Given the description of an element on the screen output the (x, y) to click on. 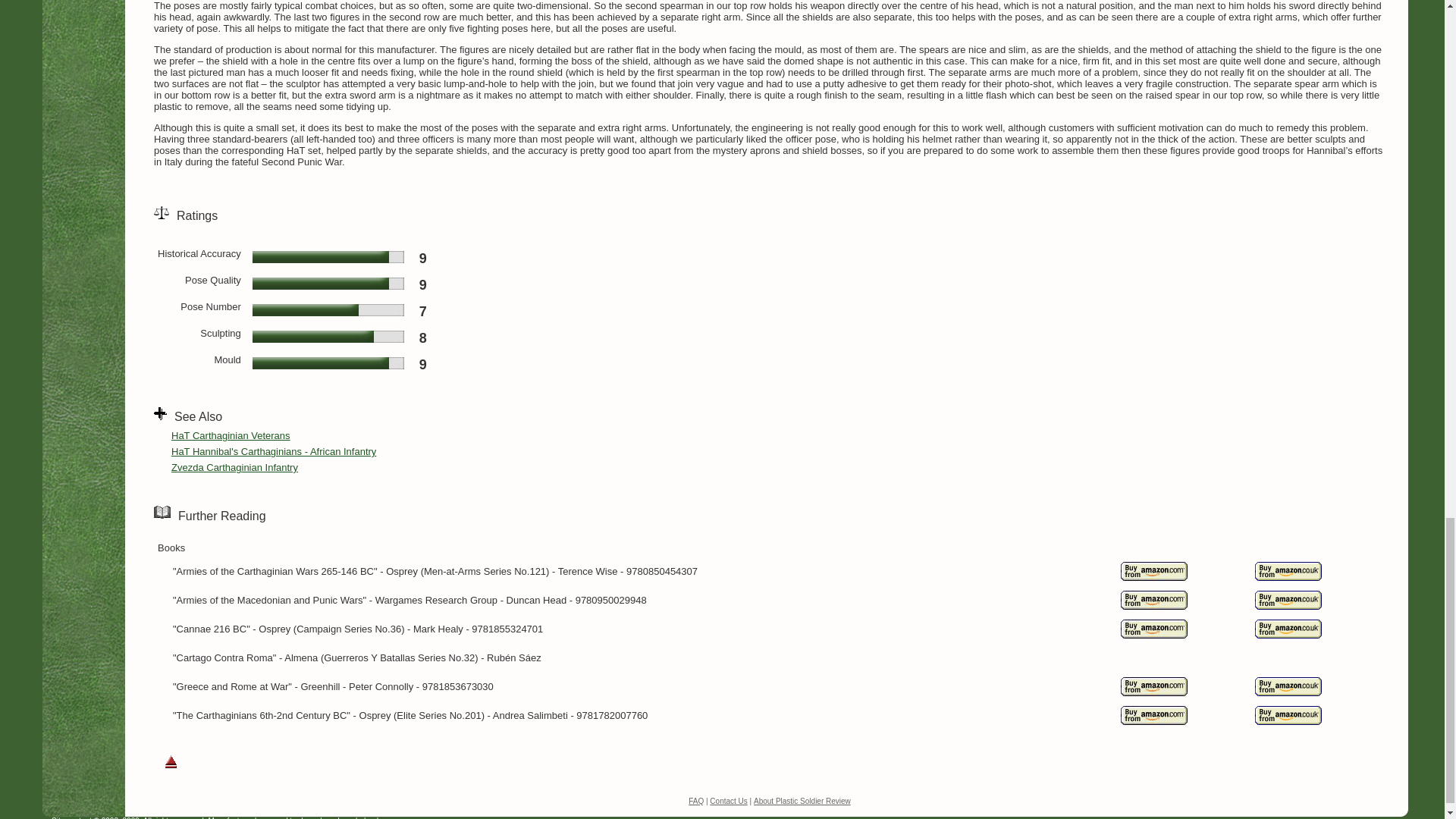
HaT Hannibal's Carthaginians - African Infantry (273, 451)
Zvezda Carthaginian Infantry (234, 467)
HaT Carthaginian Veterans (230, 435)
FAQ (695, 800)
About Plastic Soldier Review (802, 800)
Contact Us (728, 800)
